Given the description of an element on the screen output the (x, y) to click on. 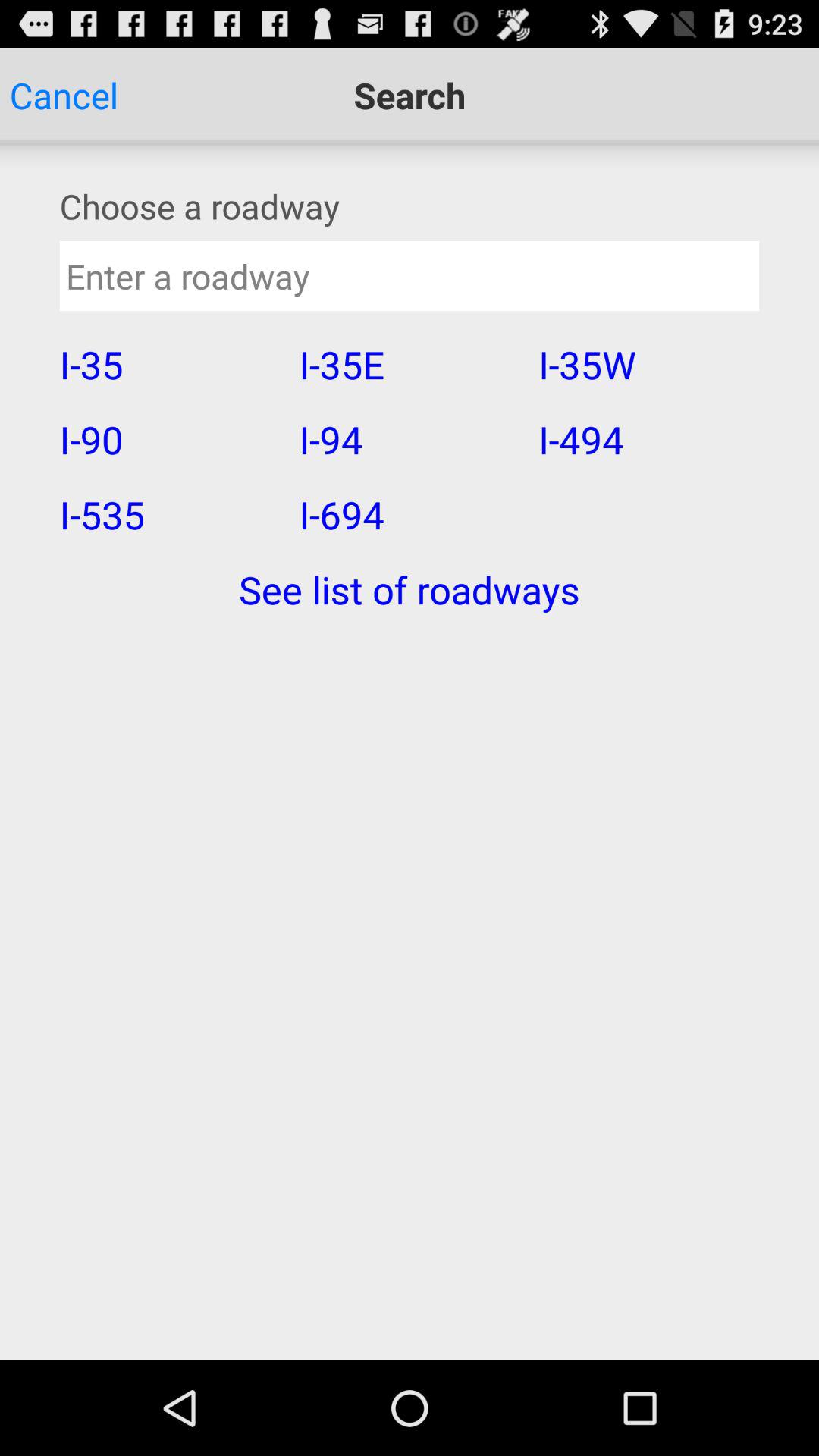
turn off the cancel item (63, 95)
